Given the description of an element on the screen output the (x, y) to click on. 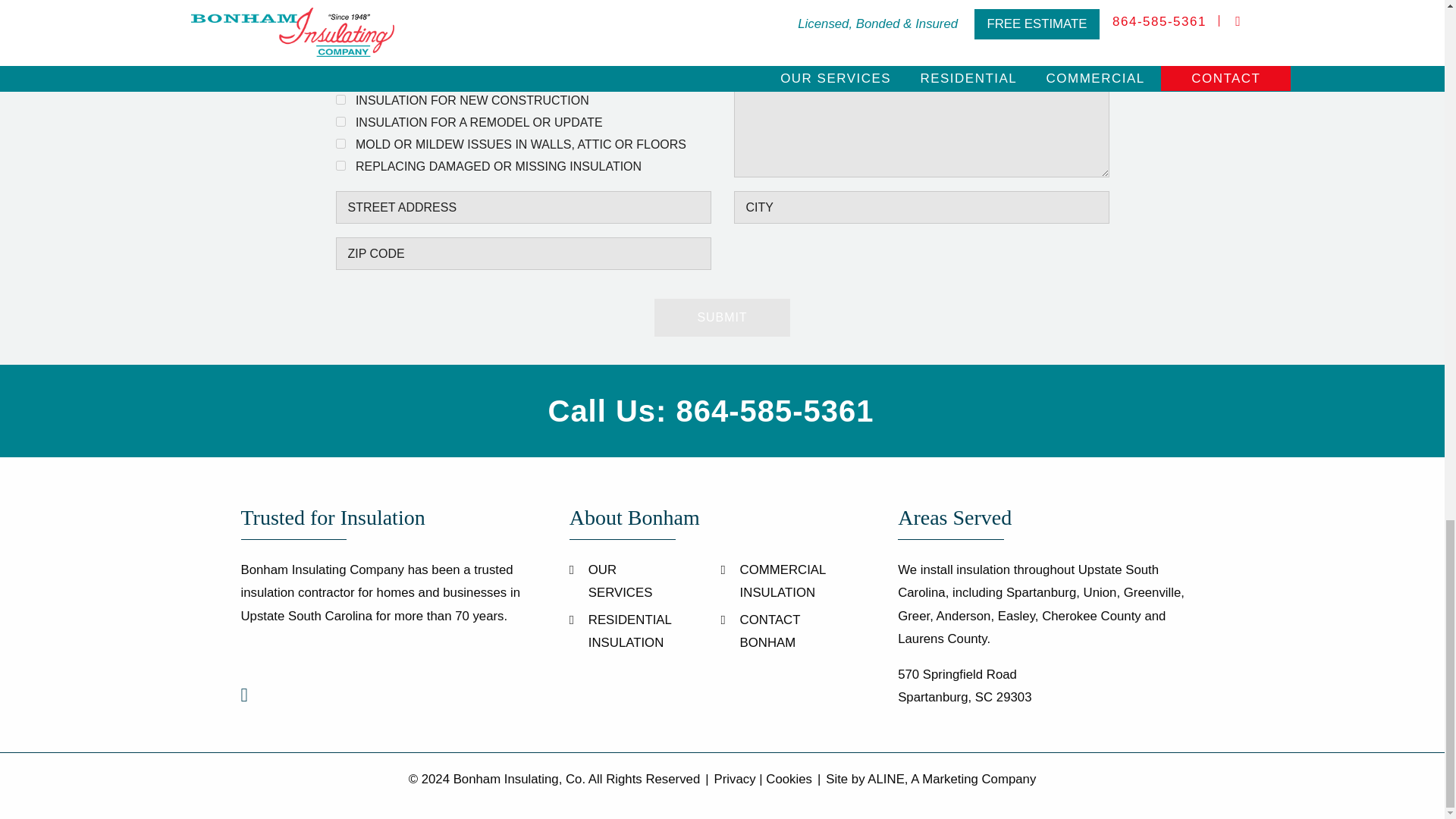
Privacy (734, 779)
on (339, 143)
Submit (721, 317)
on (339, 121)
Custom Website Design (951, 779)
Cookies (788, 779)
on (339, 165)
Submit (721, 317)
Call Us: 864-585-5361 (710, 410)
on (339, 99)
RESIDENTIAL INSULATION (629, 631)
CONTACT BONHAM (769, 631)
ALINE, A Marketing Company (951, 779)
COMMERCIAL INSULATION (782, 580)
